Given the description of an element on the screen output the (x, y) to click on. 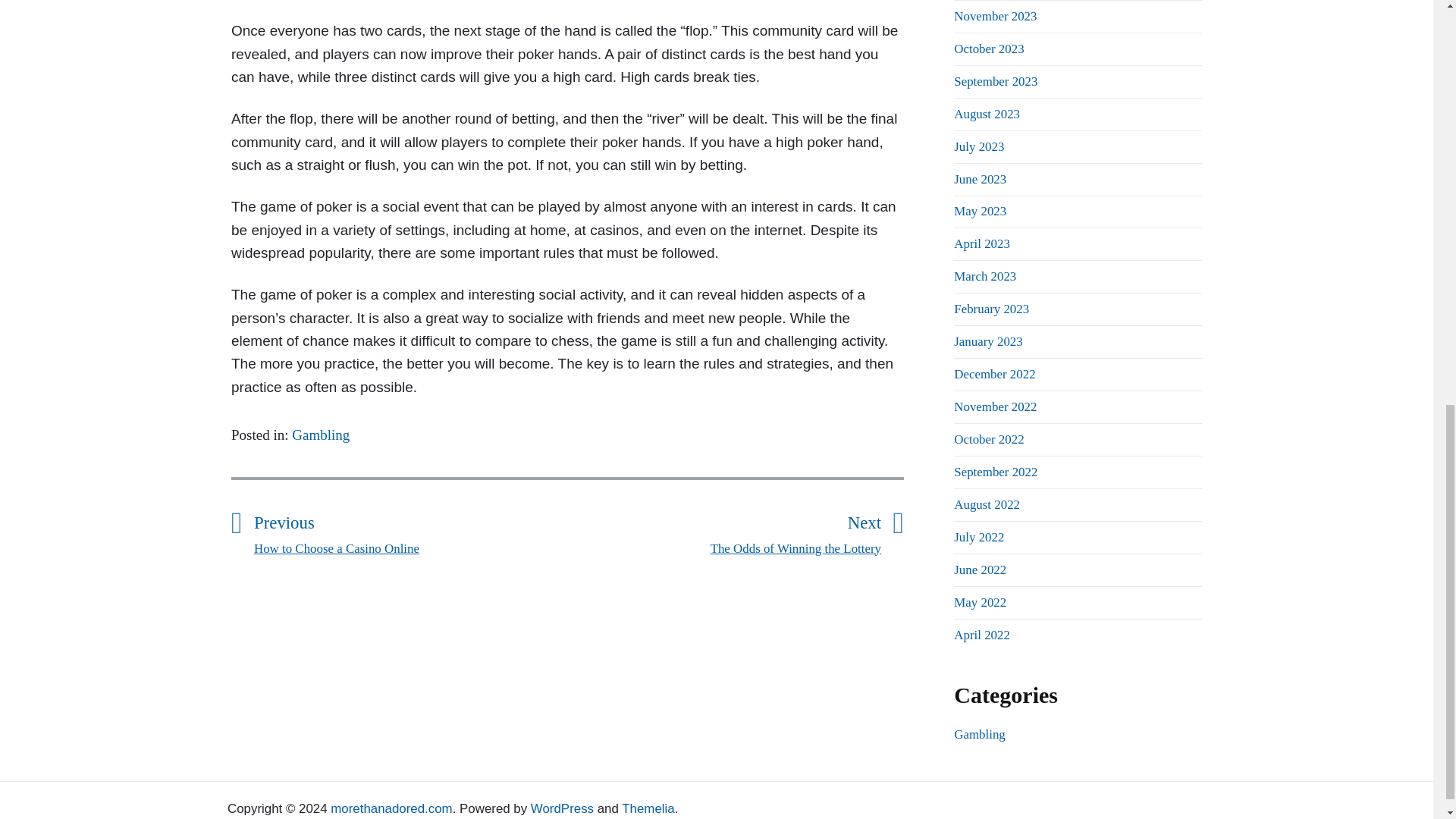
June 2023 (979, 178)
December 2022 (994, 373)
October 2023 (988, 48)
May 2023 (723, 531)
Gambling (979, 210)
February 2023 (320, 434)
March 2023 (991, 309)
September 2023 (984, 276)
August 2022 (994, 81)
